Given the description of an element on the screen output the (x, y) to click on. 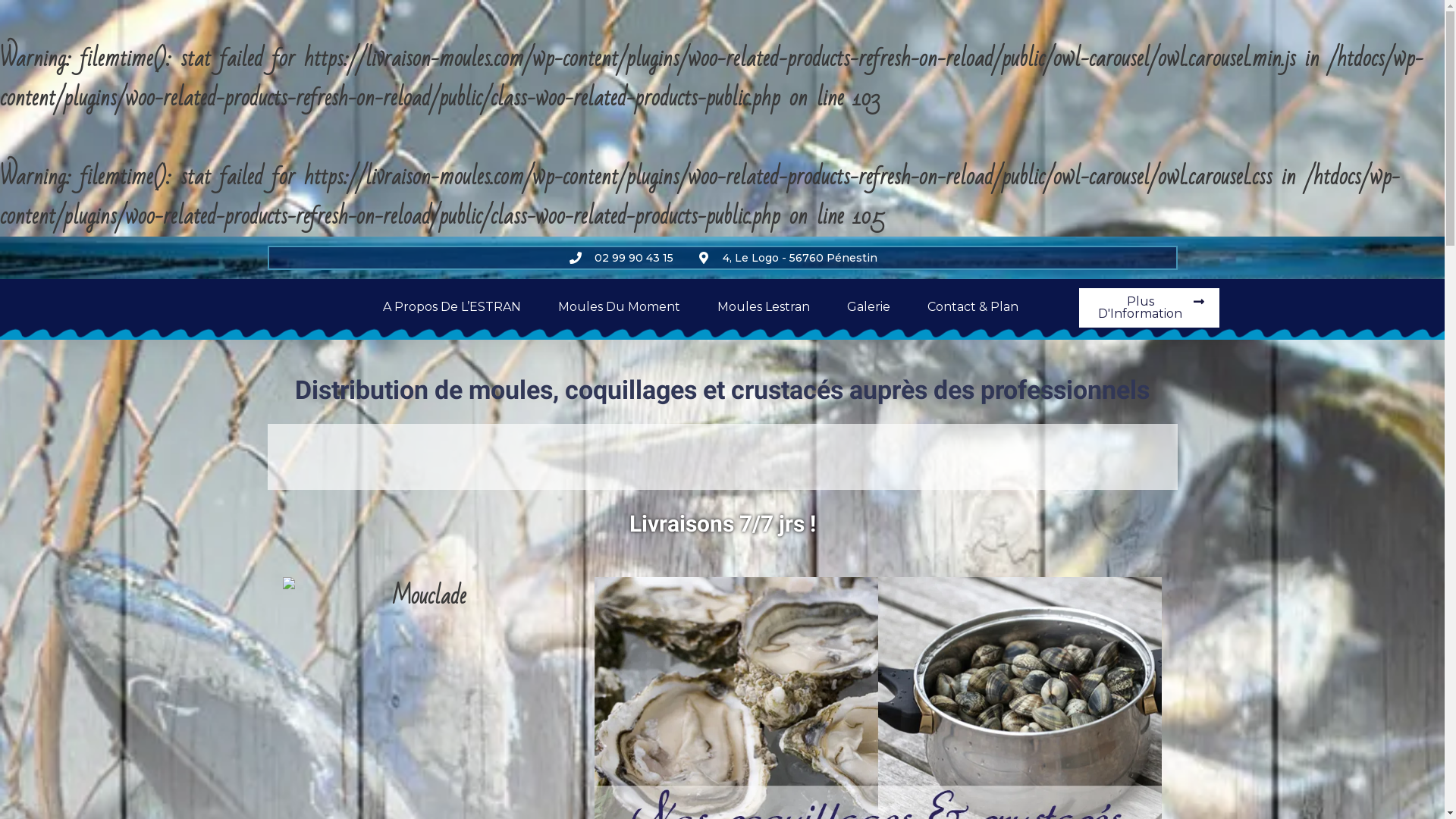
Plus D'Information Element type: text (1149, 307)
Contact & Plan Element type: text (972, 307)
02 99 90 43 15 Element type: text (619, 257)
Moules Lestran Element type: text (763, 307)
Moules Du Moment Element type: text (619, 307)
Galerie Element type: text (868, 307)
